Given the description of an element on the screen output the (x, y) to click on. 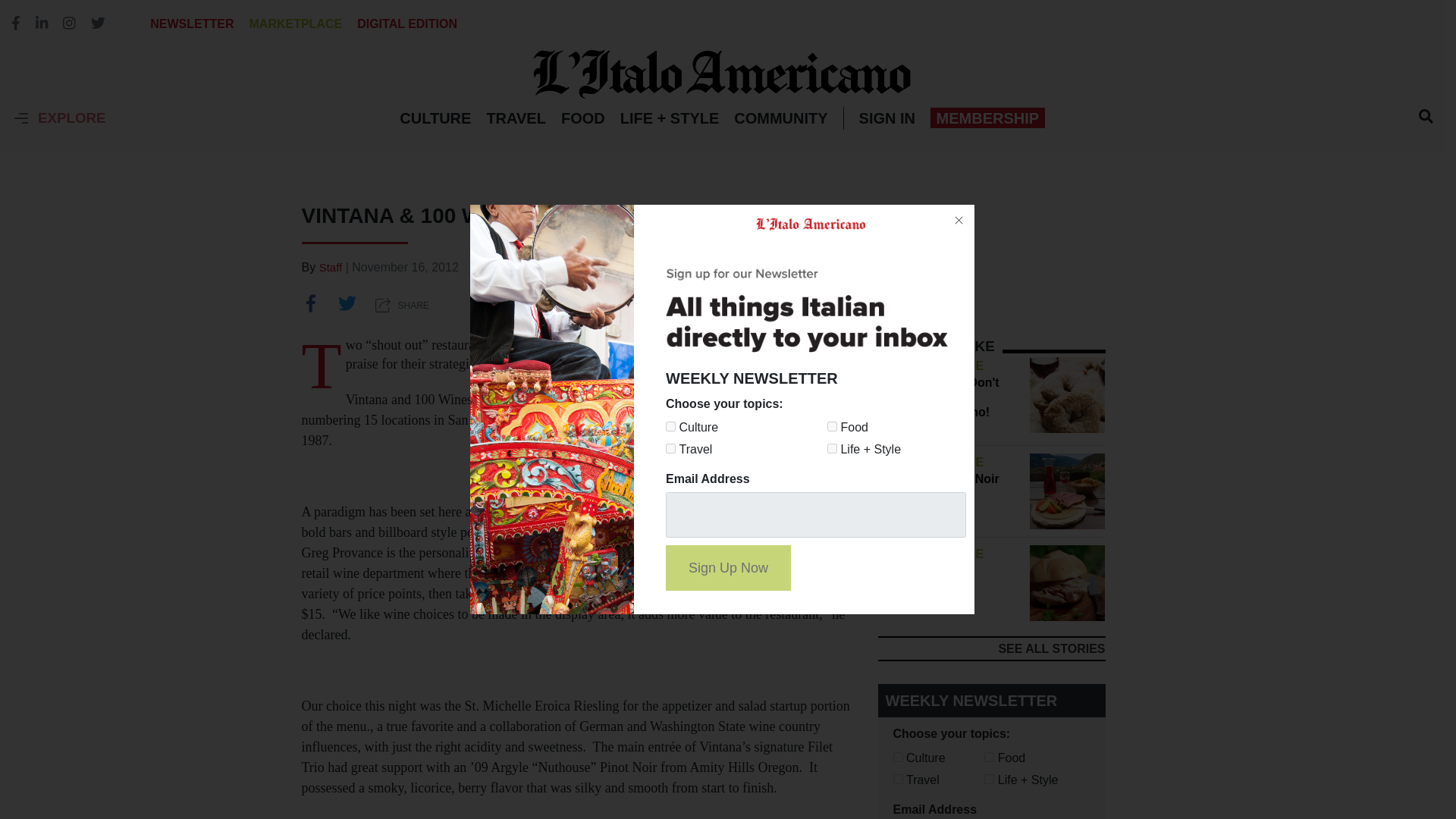
SIGN IN (887, 117)
CULTURE (434, 117)
TRAVEL (516, 117)
MARKETPLACE (295, 23)
8 (989, 778)
NEWSLETTER (190, 23)
DIGITAL EDITION (406, 23)
Twitter (346, 305)
4 (897, 778)
EXPLORE (58, 118)
2 (989, 757)
logo (721, 73)
FOOD (582, 117)
COMMUNITY (780, 117)
2 (832, 426)
